Given the description of an element on the screen output the (x, y) to click on. 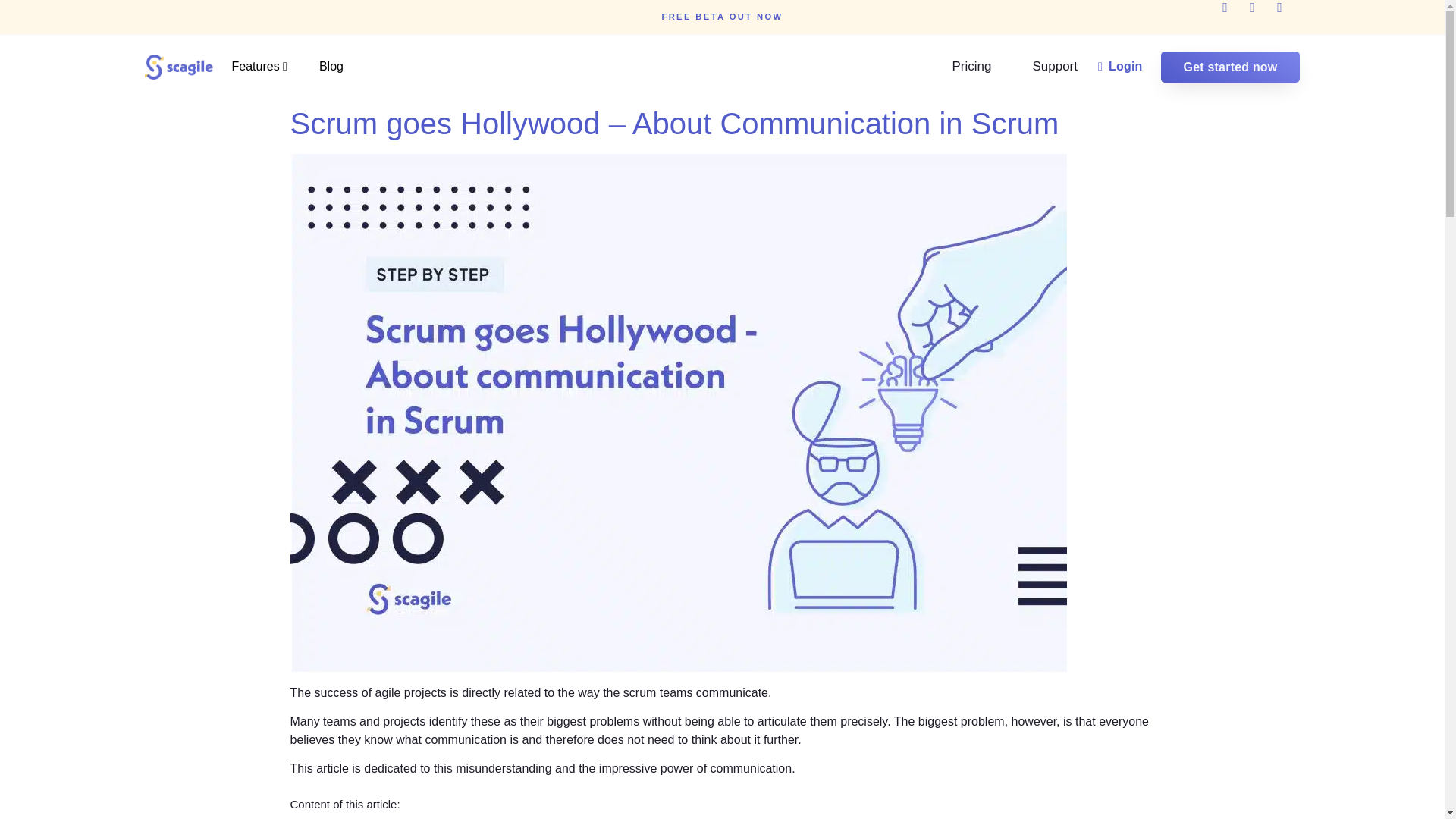
Pricing (971, 66)
Login (1119, 65)
Features (271, 66)
Blog (343, 66)
Get started now (1230, 66)
Support (1054, 66)
FREE BETA OUT NOW (721, 17)
